Given the description of an element on the screen output the (x, y) to click on. 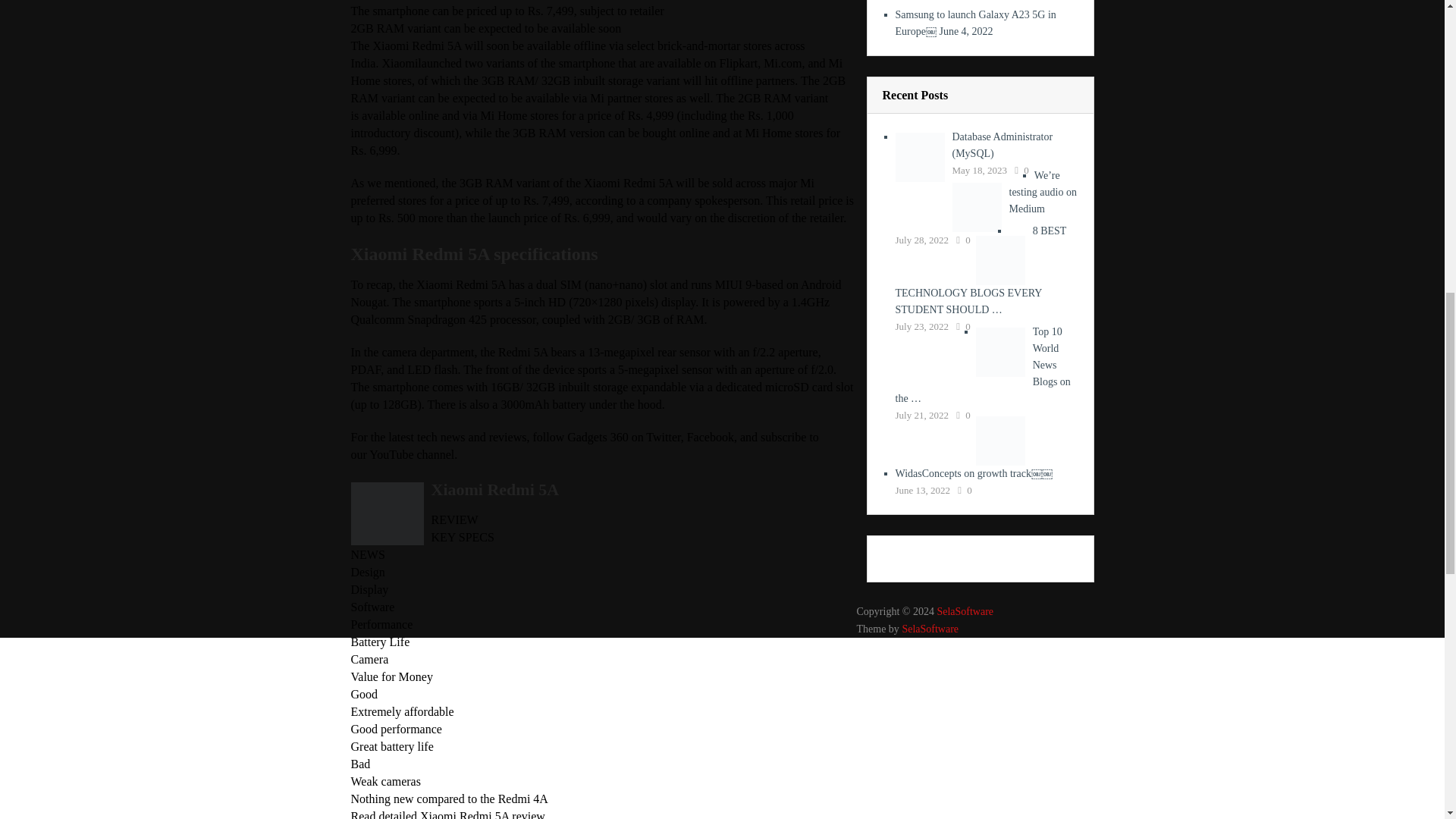
Redmi 5A (386, 513)
